Given the description of an element on the screen output the (x, y) to click on. 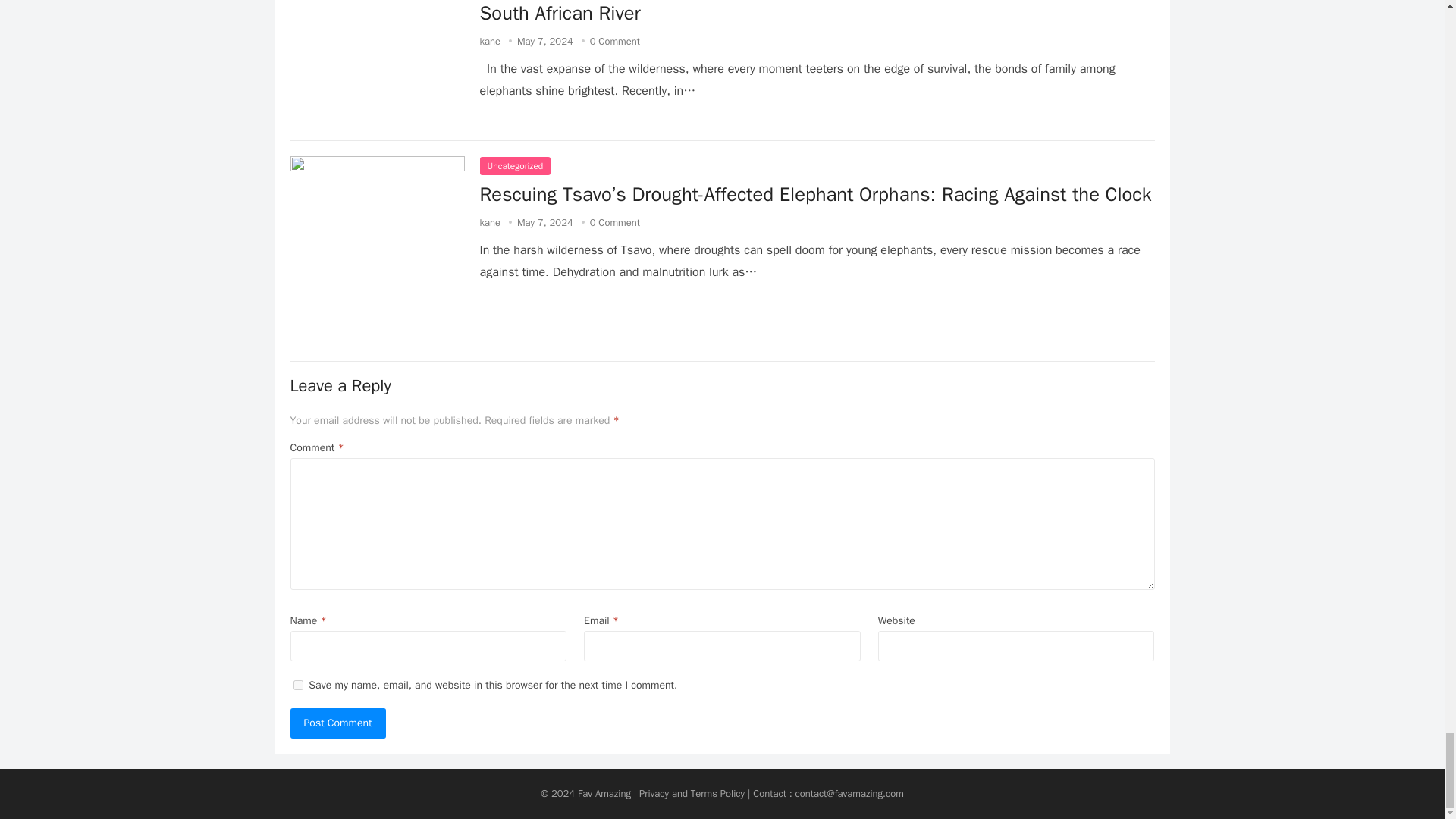
Posts by kane (489, 41)
Post Comment (337, 723)
yes (297, 685)
Posts by kane (489, 222)
